Given the description of an element on the screen output the (x, y) to click on. 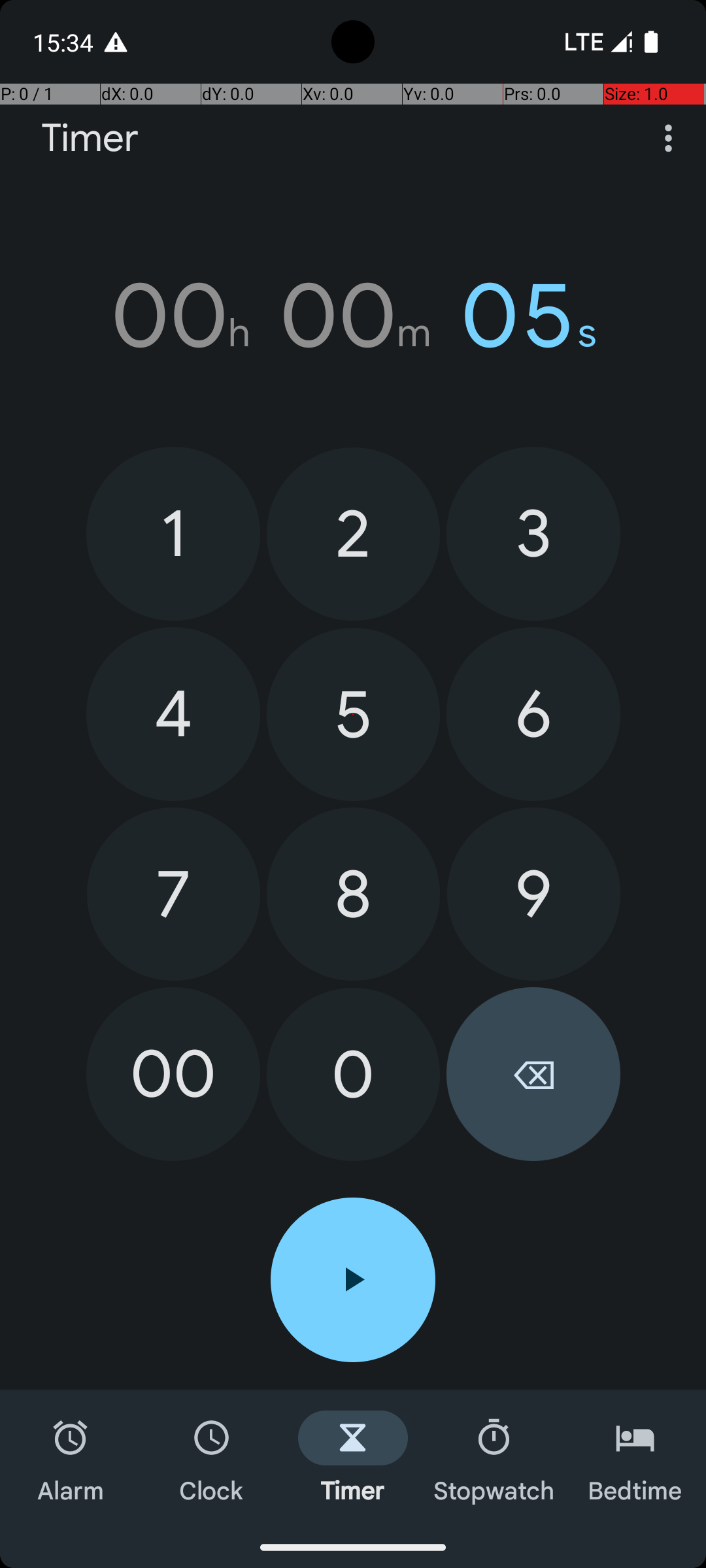
00h 00m 05s Element type: android.widget.TextView (353, 315)
1 Element type: android.widget.Button (173, 533)
2 Element type: android.widget.Button (352, 533)
3 Element type: android.widget.Button (533, 533)
4 Element type: android.widget.Button (173, 713)
5 Element type: android.widget.Button (352, 713)
6 Element type: android.widget.Button (533, 713)
7 Element type: android.widget.Button (173, 893)
8 Element type: android.widget.Button (352, 893)
9 Element type: android.widget.Button (533, 893)
0 Element type: android.widget.Button (352, 1073)
⌫ Element type: android.widget.Button (533, 1073)
Start Element type: android.widget.Button (352, 1279)
